Given the description of an element on the screen output the (x, y) to click on. 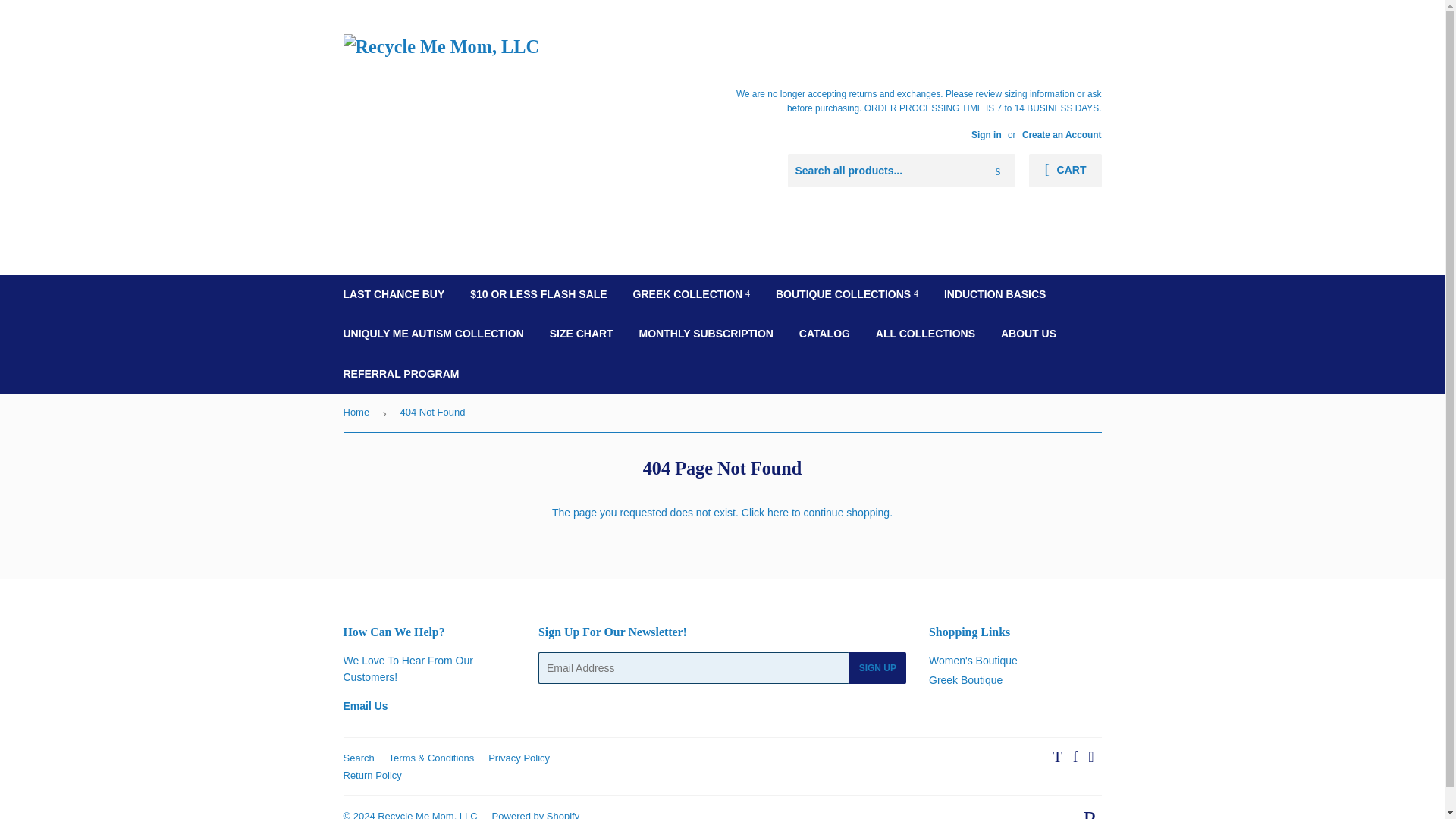
LAST CHANCE BUY (394, 293)
Sign in (986, 134)
CART (1064, 170)
GREEK COLLECTION (691, 293)
Create an Account (1062, 134)
Search (997, 171)
